Given the description of an element on the screen output the (x, y) to click on. 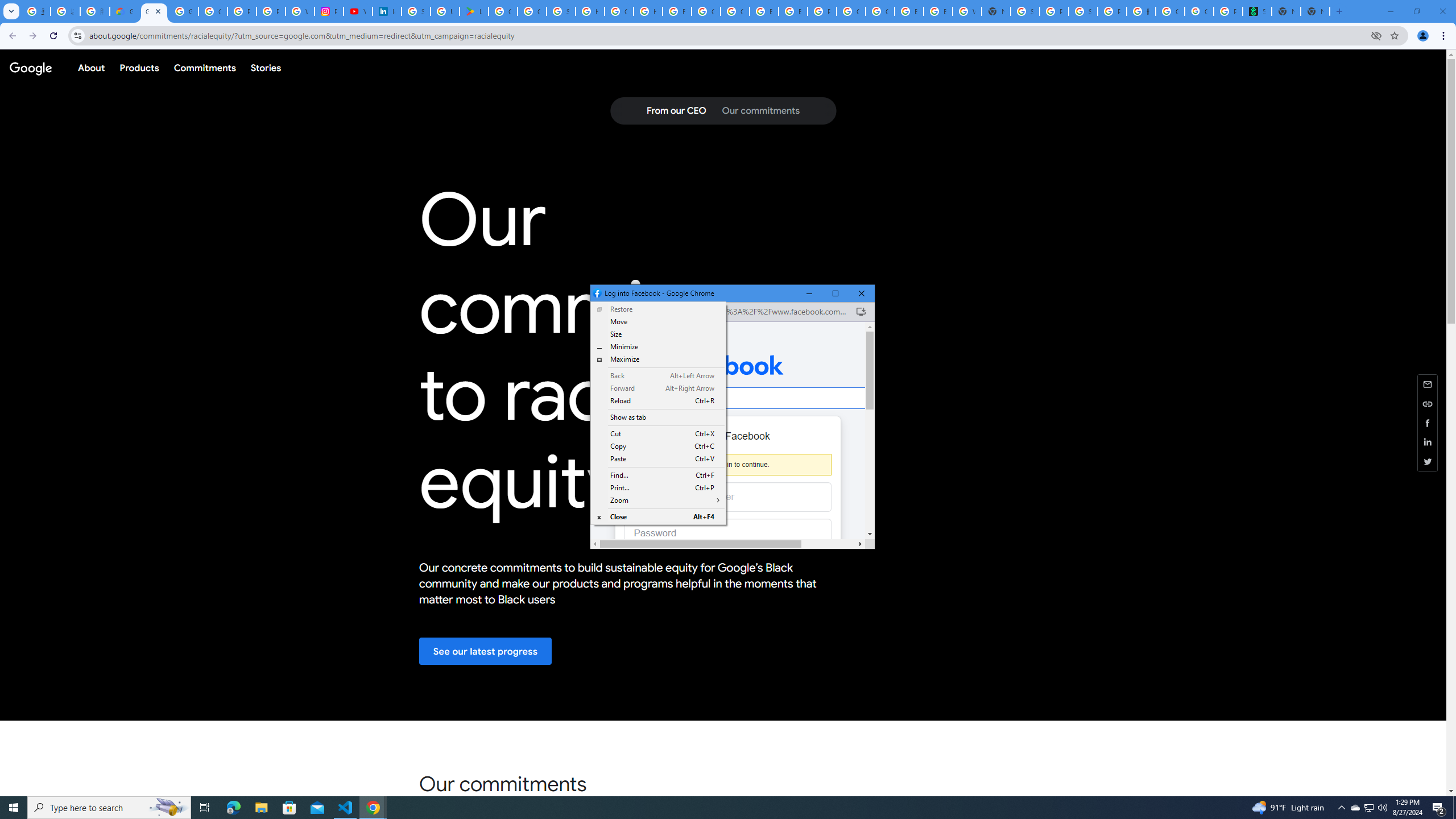
Maximize (1368, 807)
Microsoft Store (835, 293)
Show desktop (289, 807)
Type here to search (1454, 807)
Forward	Alt+Right Arrow (108, 807)
Maximize (658, 388)
Size (658, 359)
Google Chrome - 4 running windows (658, 334)
